Given the description of an element on the screen output the (x, y) to click on. 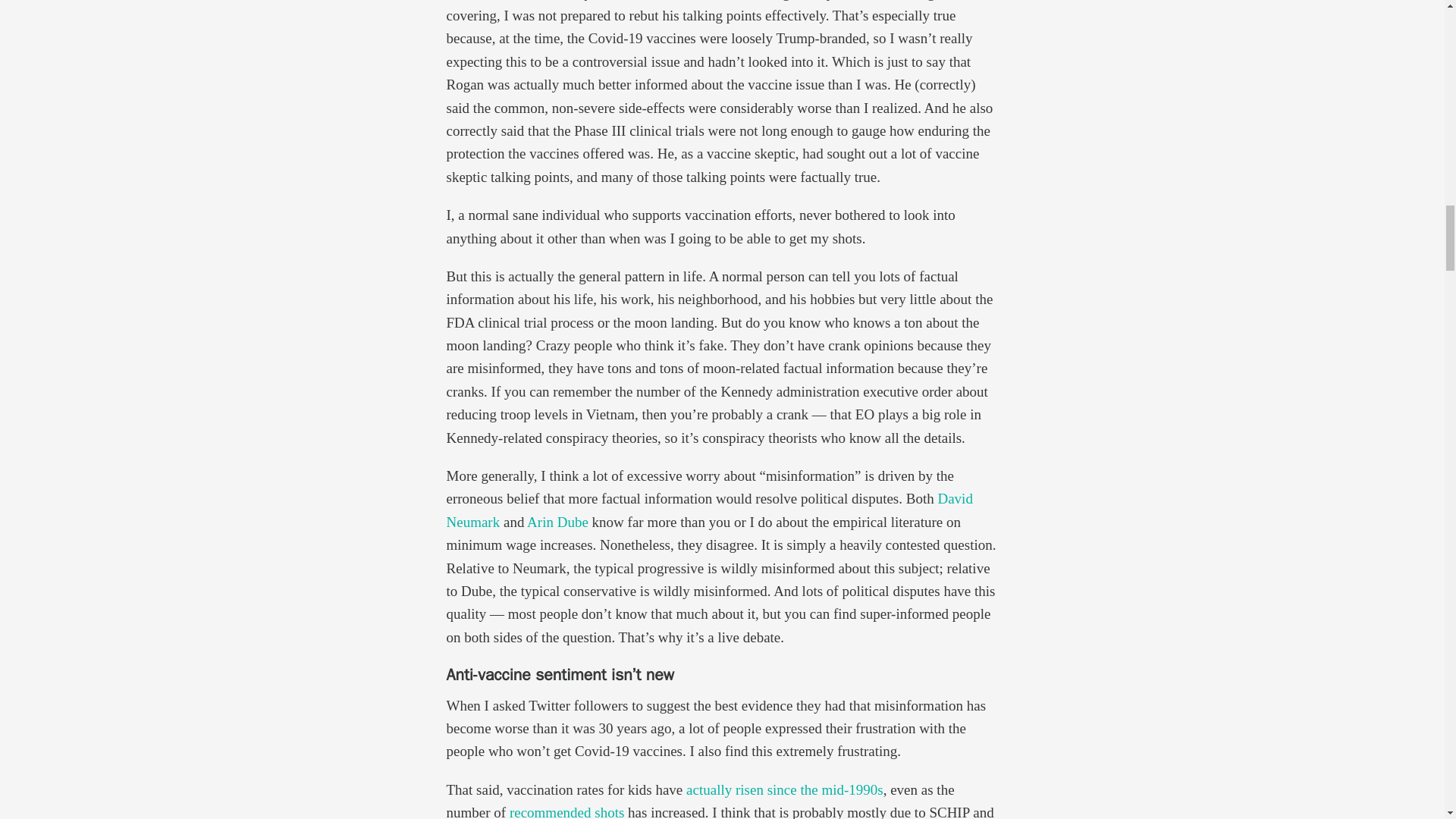
actually risen since the mid-1990s (784, 789)
David Neumark (708, 509)
Arin Dube (557, 521)
recommended shots (566, 811)
